Given the description of an element on the screen output the (x, y) to click on. 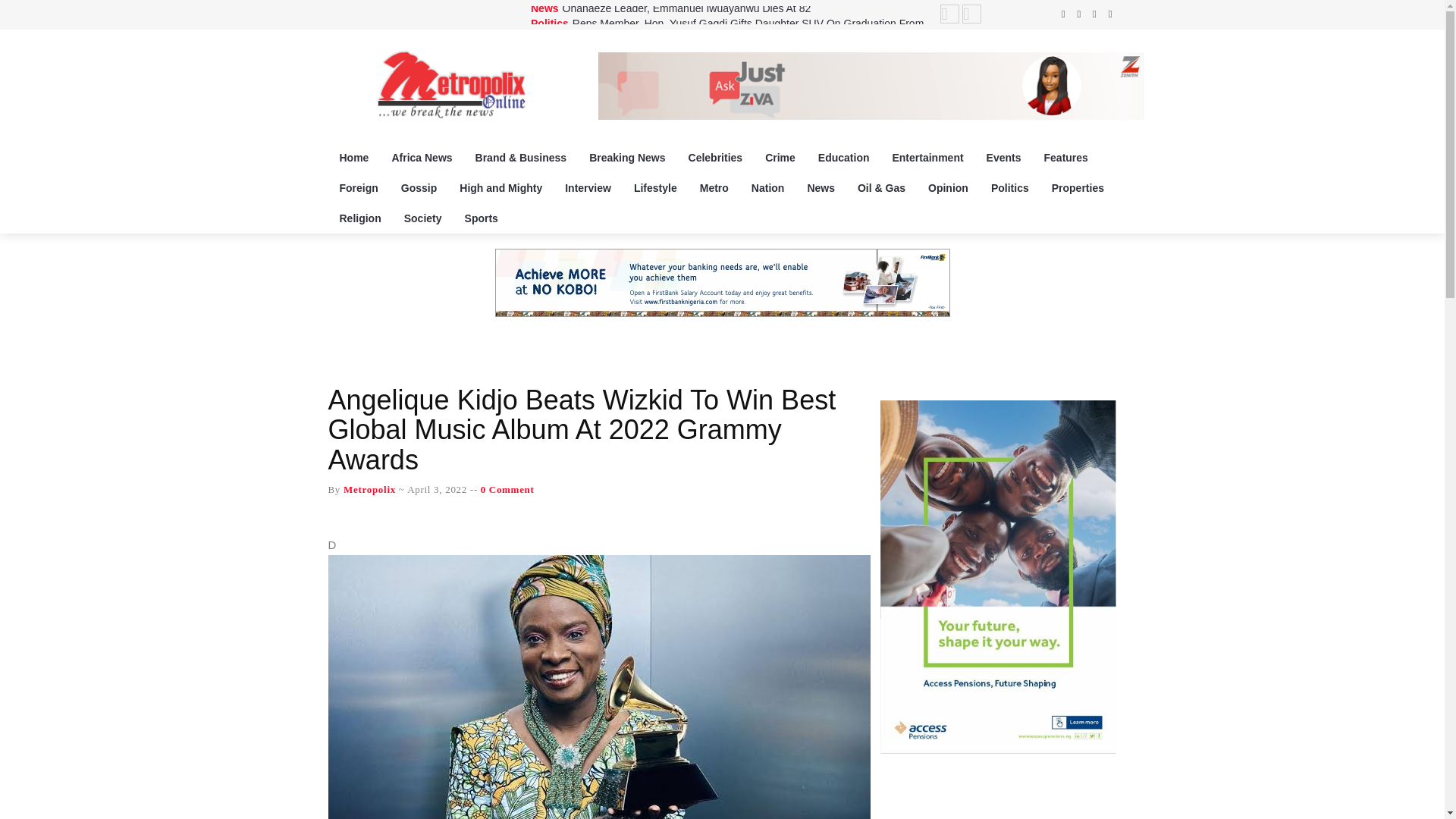
Ohanaeze Leader, Emmanuel Iwuayanwu Dies At 82 (686, 8)
Ohanaeze Leader, Emmanuel Iwuayanwu Dies At 82 (686, 8)
News (545, 8)
Politics (550, 23)
